Given the description of an element on the screen output the (x, y) to click on. 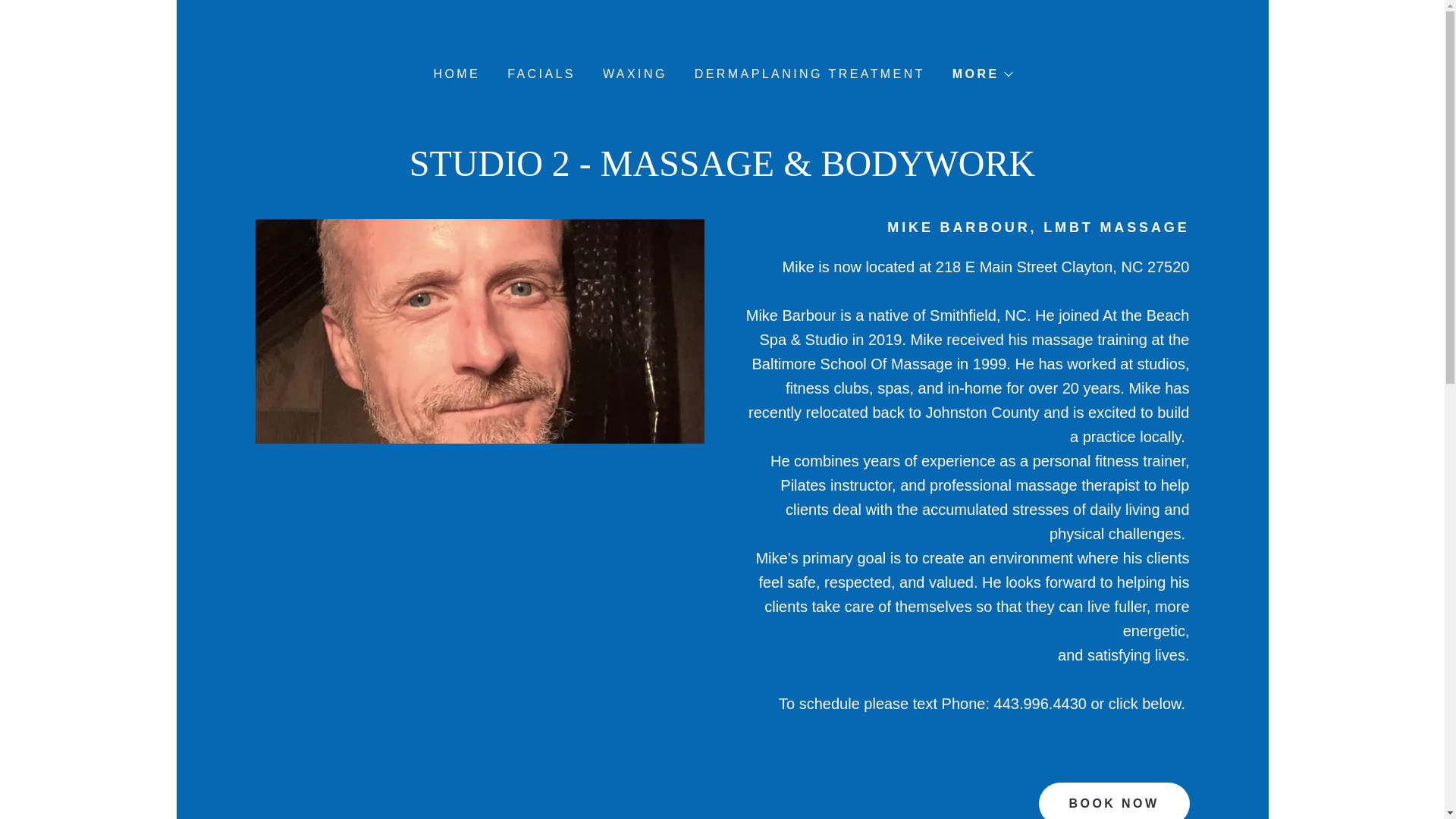
WAXING (633, 73)
MORE (981, 74)
BOOK NOW (1114, 800)
DERMAPLANING TREATMENT (808, 73)
HOME (454, 73)
FACIALS (539, 73)
